Given the description of an element on the screen output the (x, y) to click on. 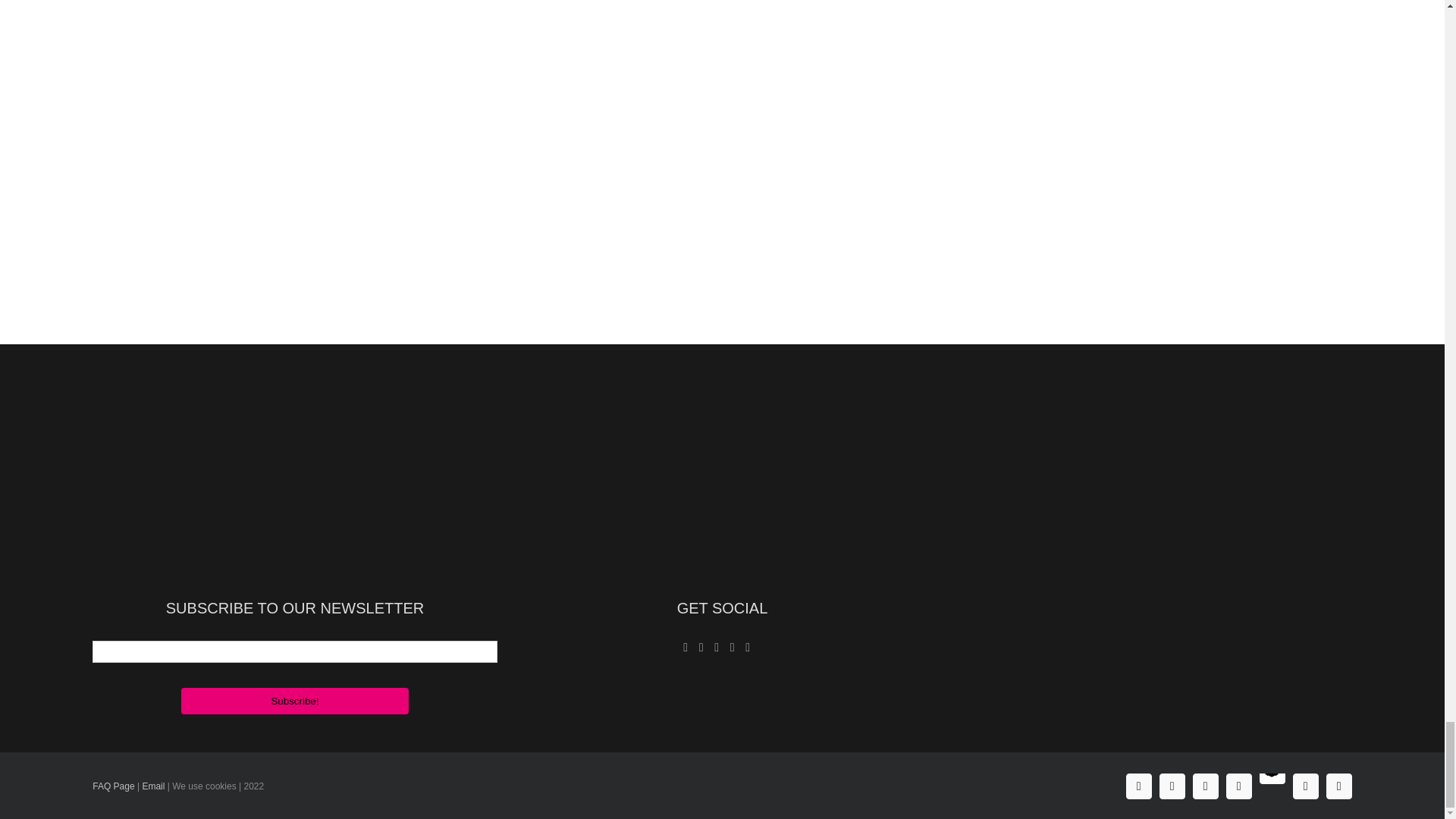
Facebook (1138, 786)
Email (152, 786)
Twitter (1205, 786)
Twitter (1205, 786)
Snapchat (1272, 770)
Subscribe! (294, 700)
Pinterest (1238, 786)
Instagram (1171, 786)
Tumblr (1339, 786)
Facebook (1138, 786)
